Given the description of an element on the screen output the (x, y) to click on. 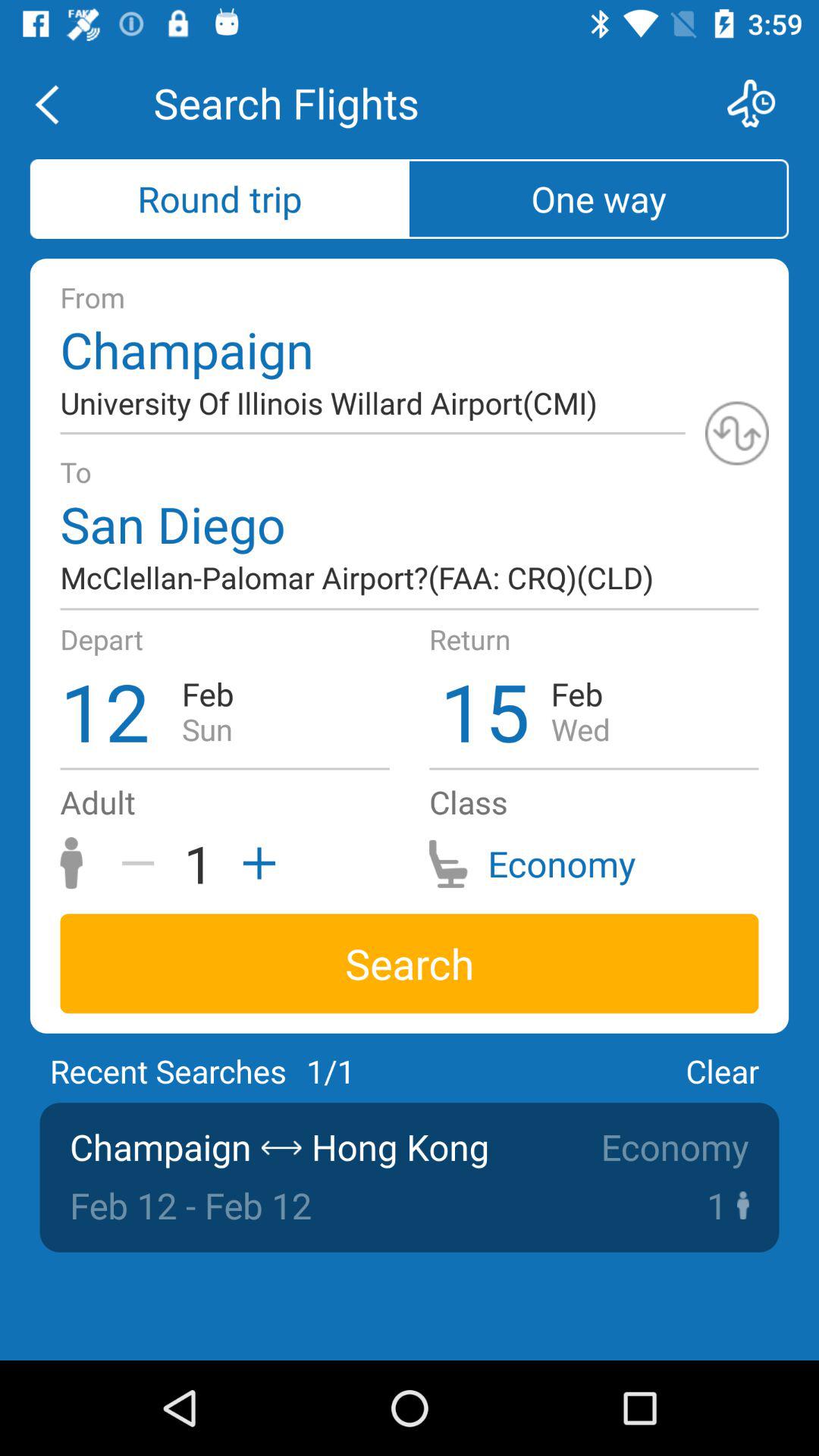
tap the item below the champaign icon (736, 433)
